Given the description of an element on the screen output the (x, y) to click on. 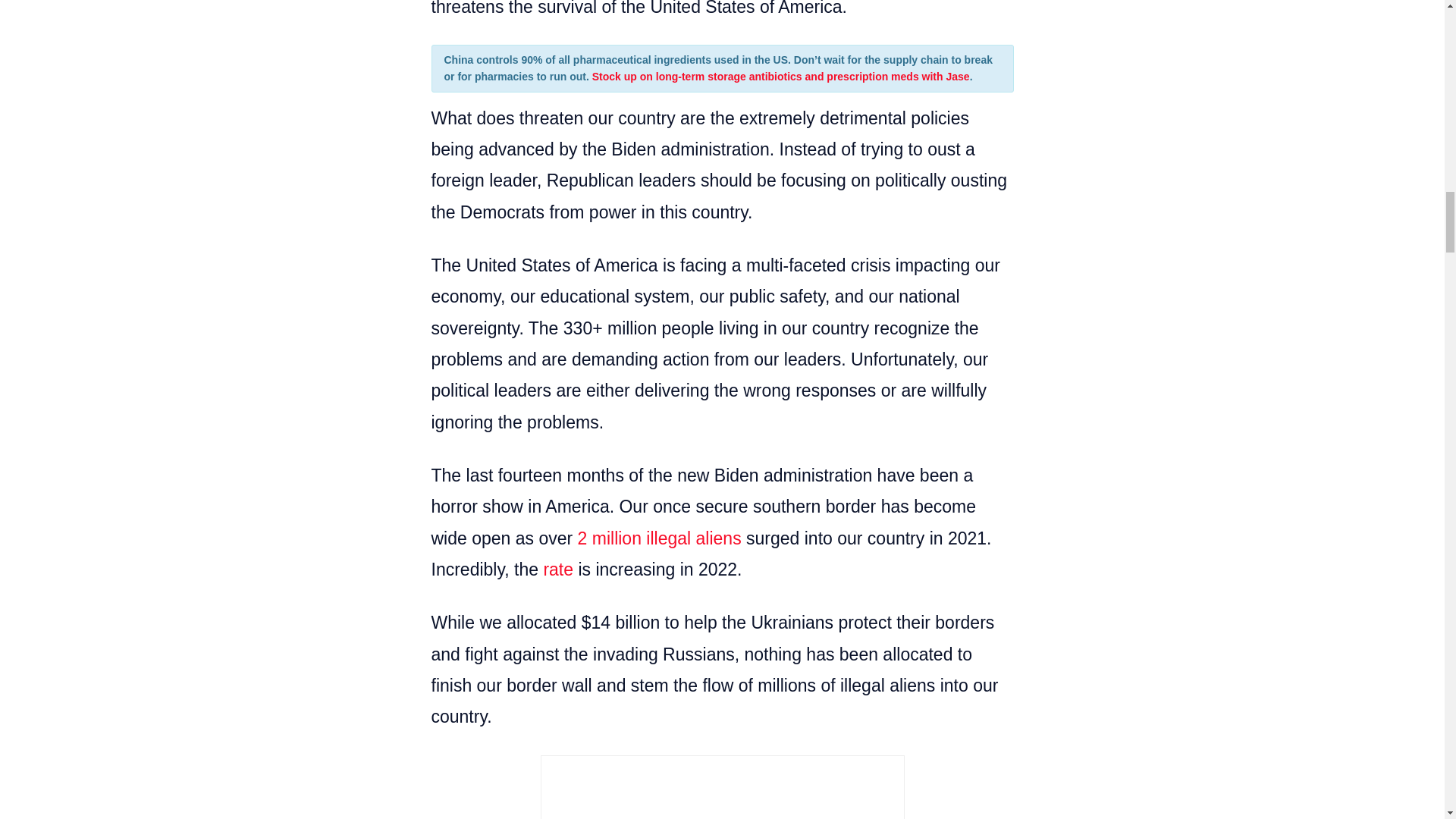
2 million illegal aliens (659, 537)
rate (558, 569)
